Given the description of an element on the screen output the (x, y) to click on. 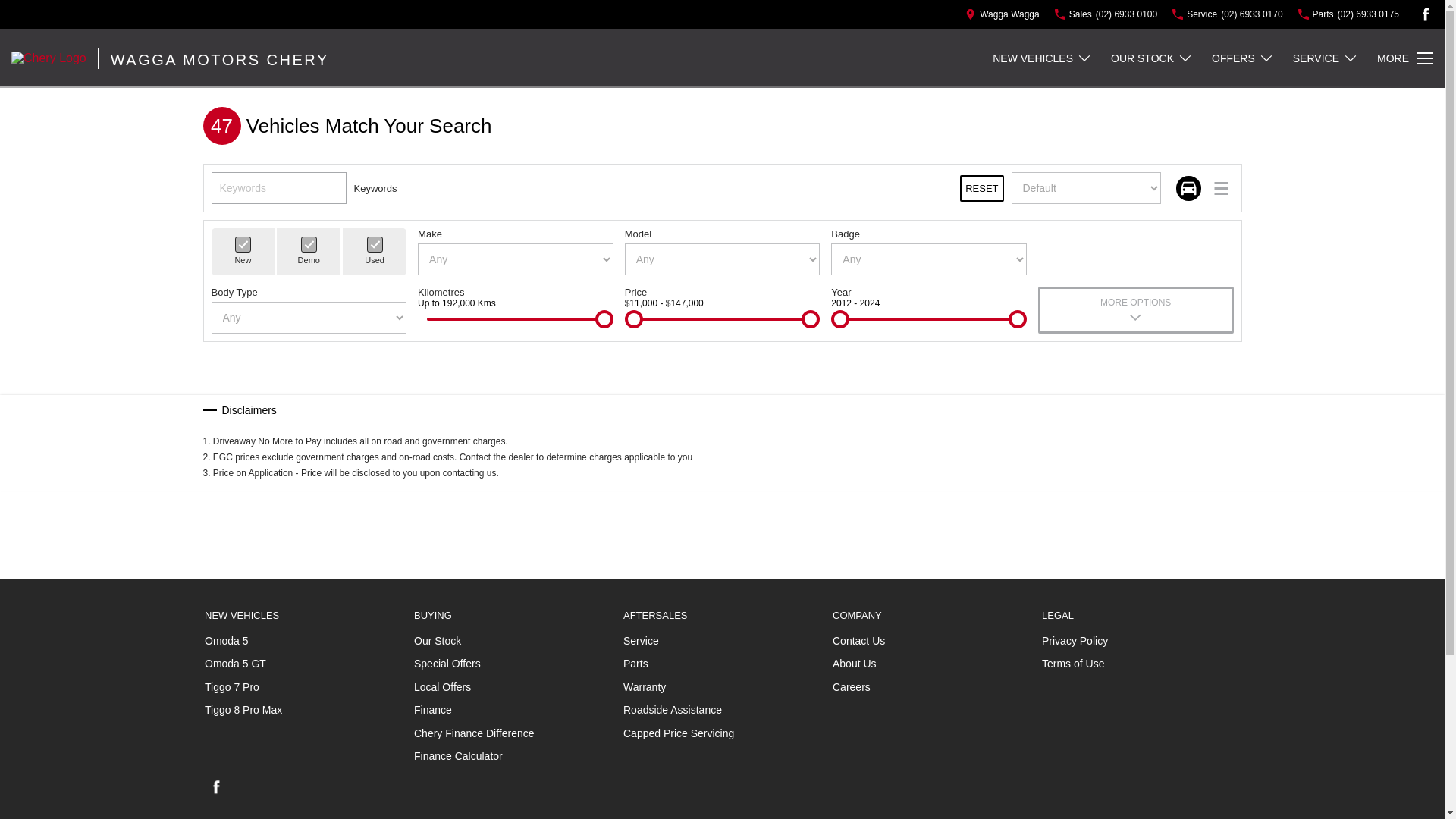
OFFERS (1242, 58)
Demo (309, 244)
SERVICE (1325, 58)
WAGGA MOTORS CHERY (213, 57)
Wagga Wagga (1002, 13)
Used (374, 244)
NEW VEHICLES (1042, 58)
OUR STOCK (1151, 58)
New (242, 244)
